Given the description of an element on the screen output the (x, y) to click on. 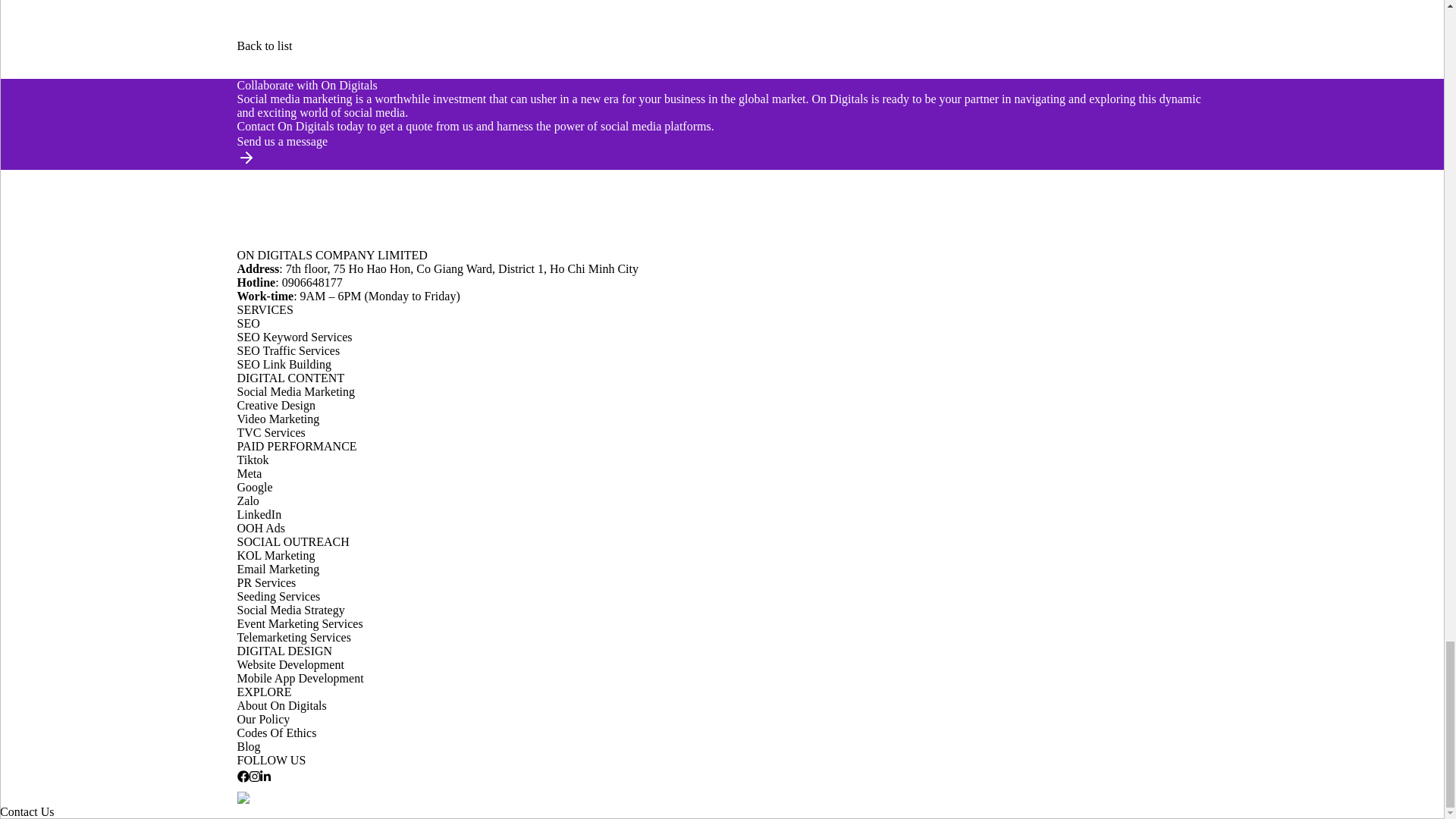
Social Media Marketing (295, 391)
0906648177 (312, 282)
Back to list (721, 39)
Creative Design (275, 404)
SEO Keyword Services (293, 336)
Google (253, 486)
PAID PERFORMANCE (295, 445)
SEO (247, 323)
Tiktok (251, 459)
